Given the description of an element on the screen output the (x, y) to click on. 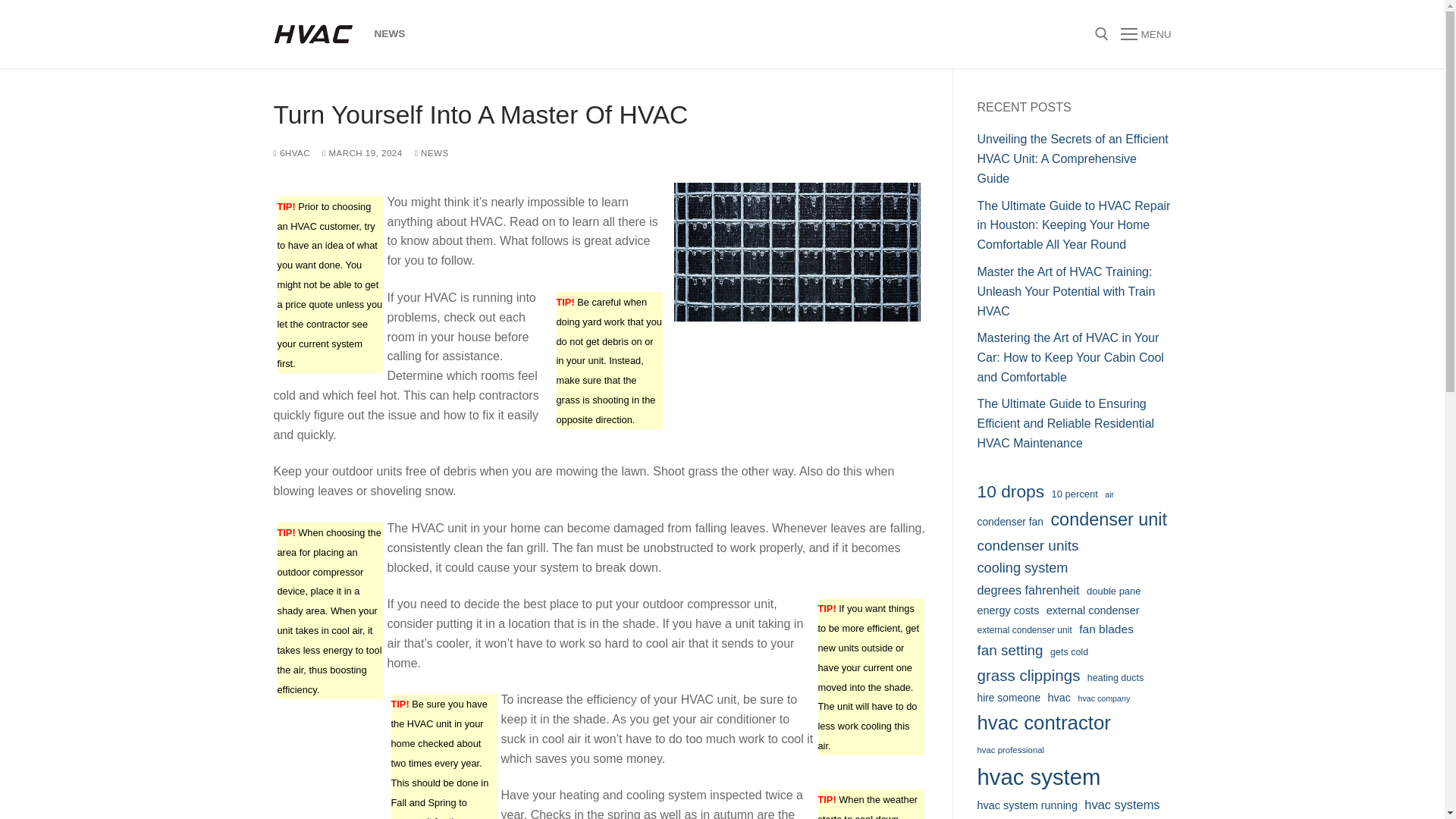
6HVAC (290, 153)
MENU (1145, 34)
MARCH 19, 2024 (362, 153)
10 drops (1009, 491)
condenser fan (1009, 522)
NEWS (389, 33)
NEWS (431, 153)
